Given the description of an element on the screen output the (x, y) to click on. 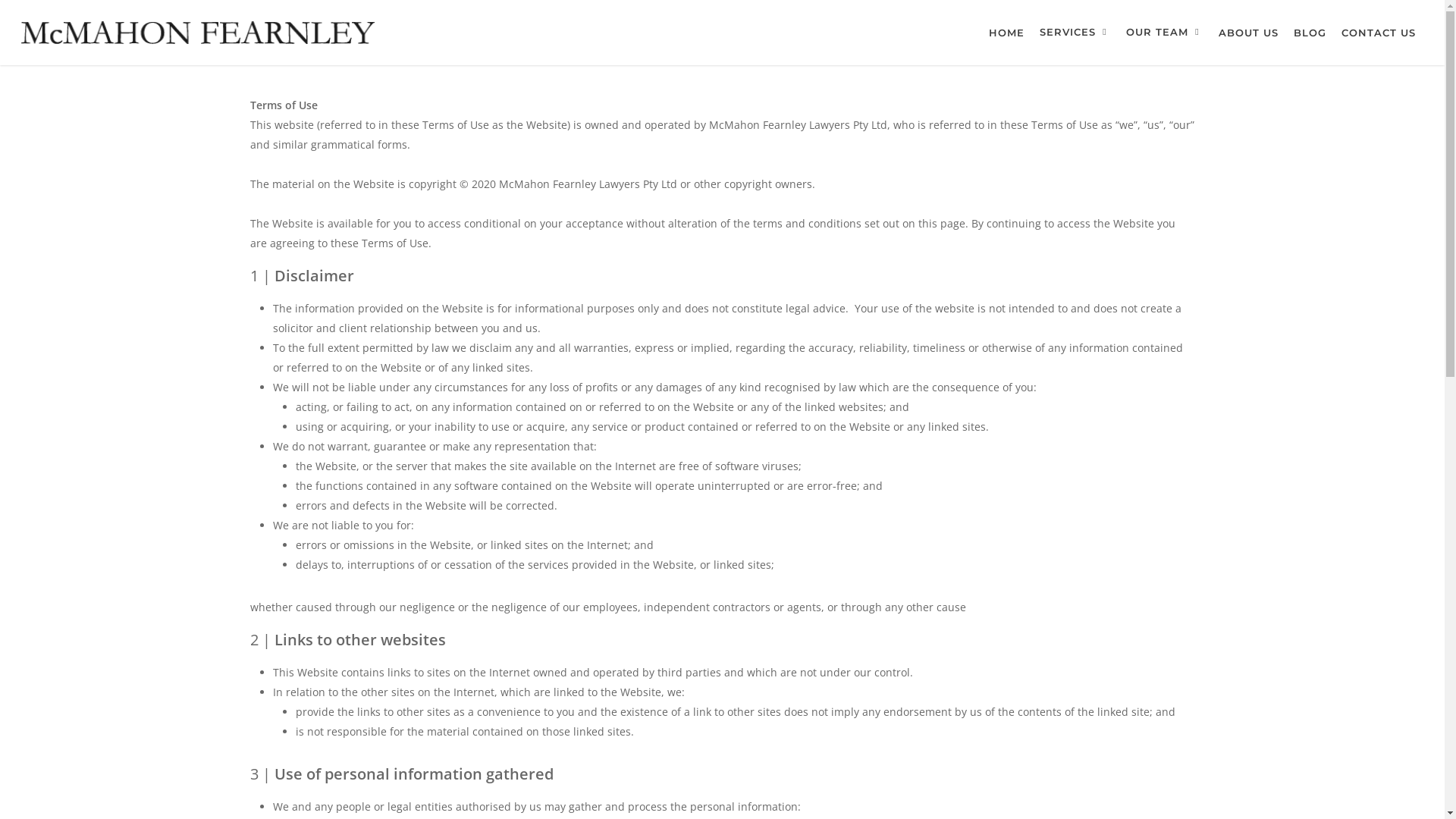
CONTACT US Element type: text (1378, 32)
ABOUT US Element type: text (1248, 32)
SERVICES Element type: text (1075, 32)
HOME Element type: text (1006, 32)
BLOG Element type: text (1309, 32)
OUR TEAM Element type: text (1164, 32)
